Given the description of an element on the screen output the (x, y) to click on. 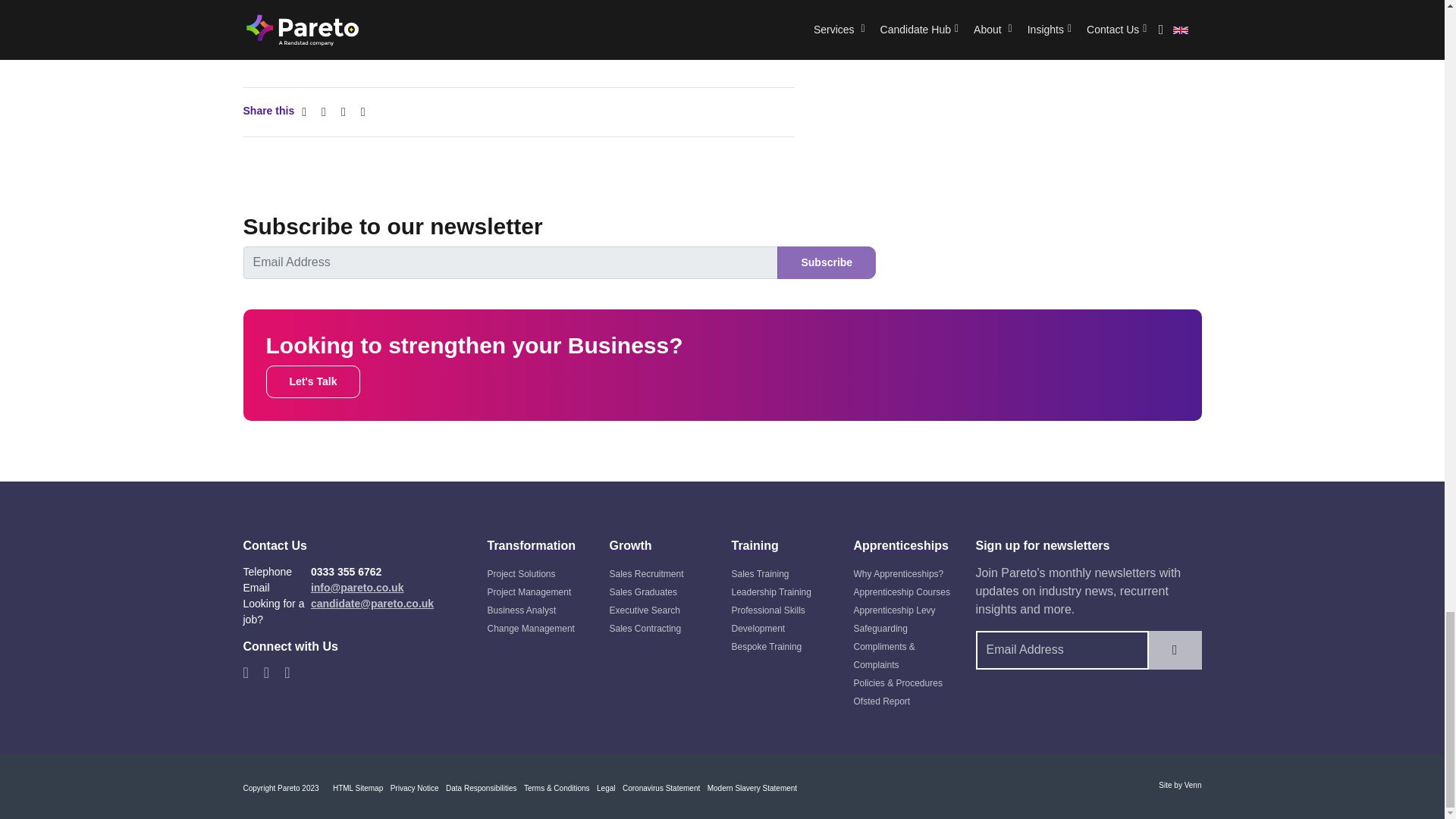
Subscribe (826, 262)
